Given the description of an element on the screen output the (x, y) to click on. 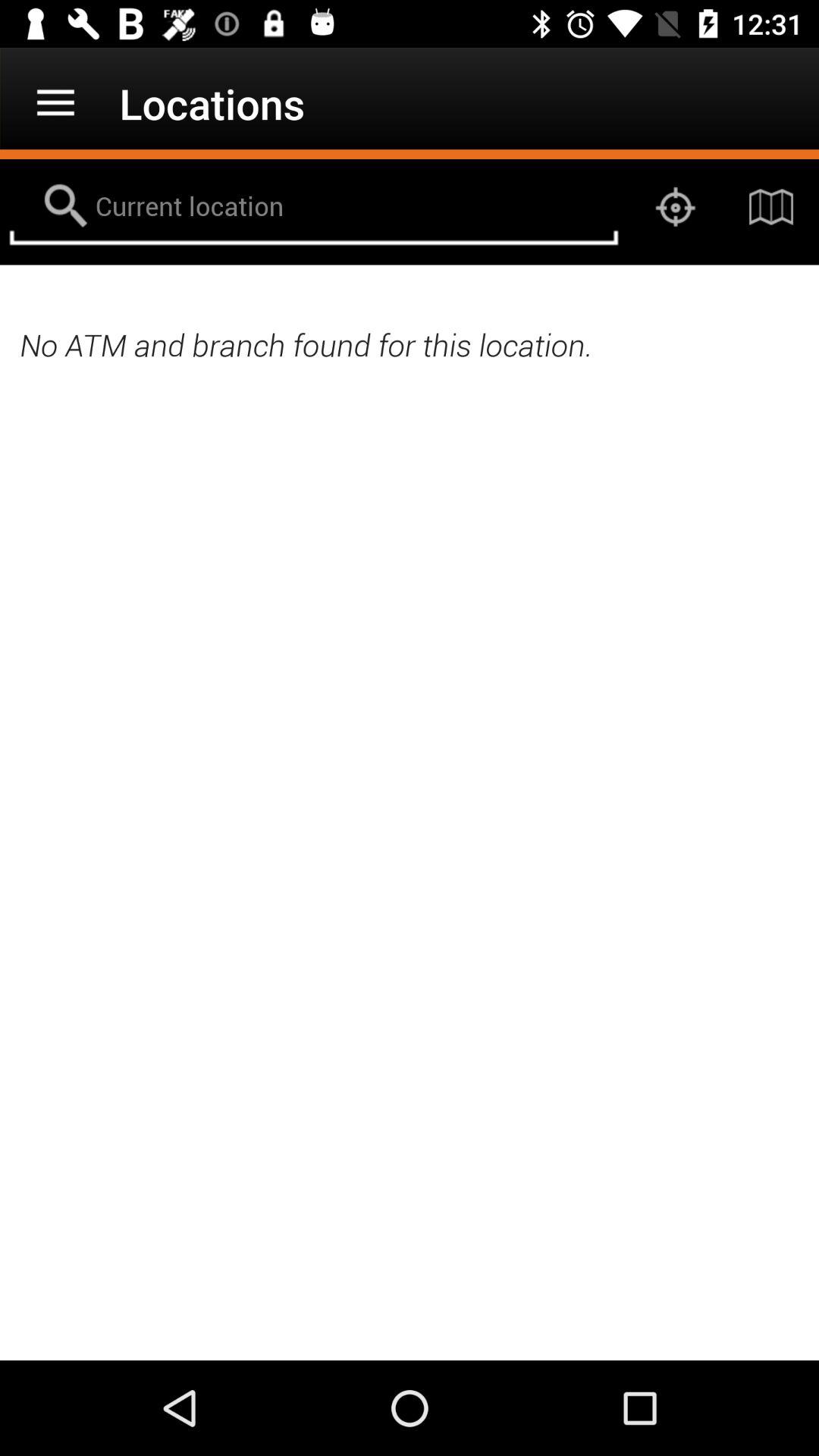
scroll to no atm and item (409, 344)
